Given the description of an element on the screen output the (x, y) to click on. 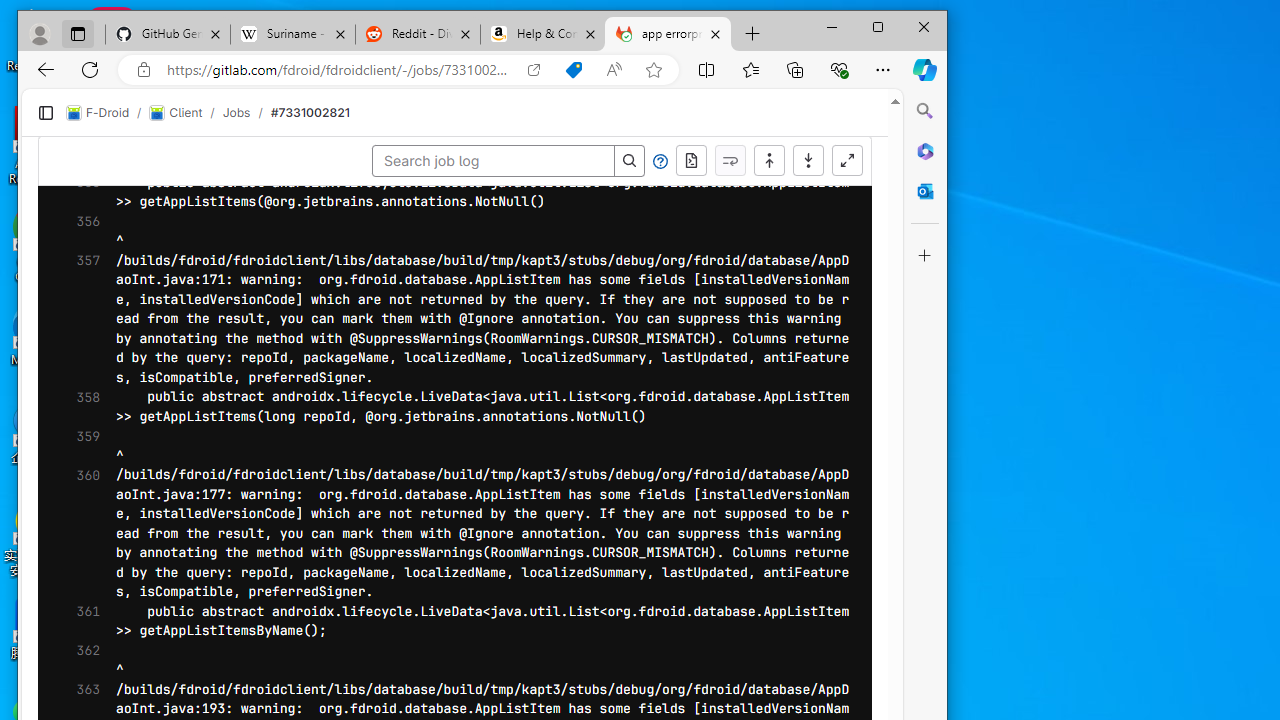
#7331002821 (309, 112)
358 (82, 406)
Jobs (235, 112)
360 (82, 534)
357 (82, 319)
355 (82, 192)
F-Droid/ (107, 112)
